Given the description of an element on the screen output the (x, y) to click on. 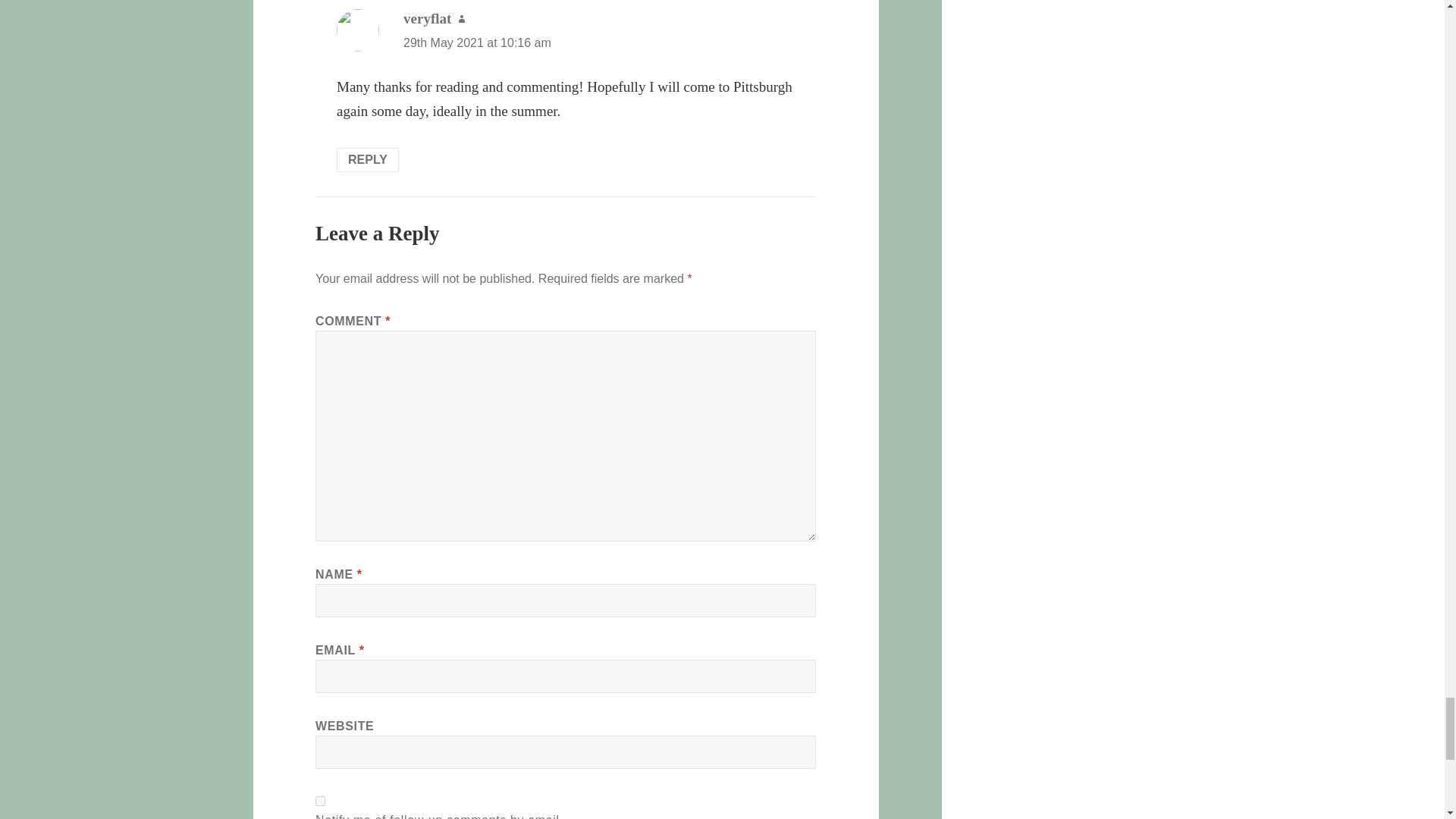
subscribe (319, 800)
